Given the description of an element on the screen output the (x, y) to click on. 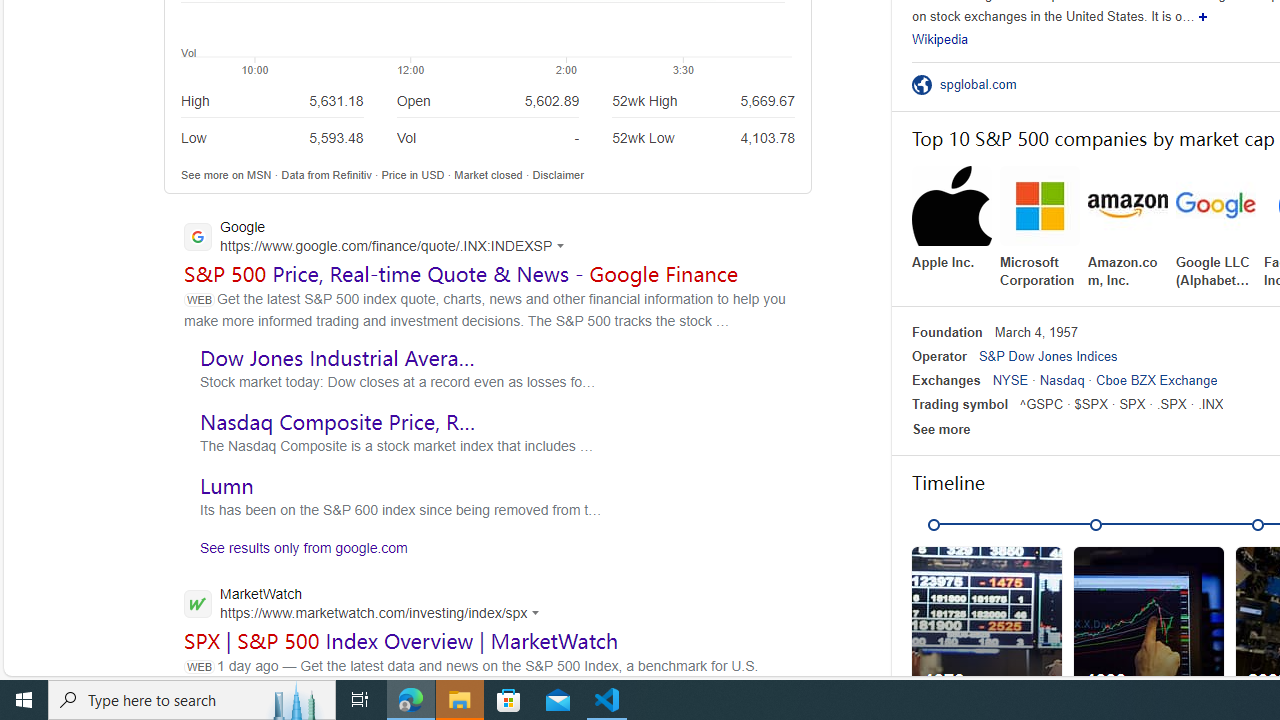
Google LLC (Alphabet Inc.) (1215, 228)
Exchanges (945, 380)
Amazon.com, Inc. (1127, 228)
Amazon.com, Inc. (1127, 228)
Microsoft Corporation (1039, 228)
Cboe BZX Exchange (1156, 380)
Lumn (226, 485)
Official Site (925, 84)
Disclaimer (557, 173)
Trading symbol (959, 403)
Apple Inc. (951, 219)
Show more (1203, 15)
S&P Dow Jones Indices (1047, 356)
